Given the description of an element on the screen output the (x, y) to click on. 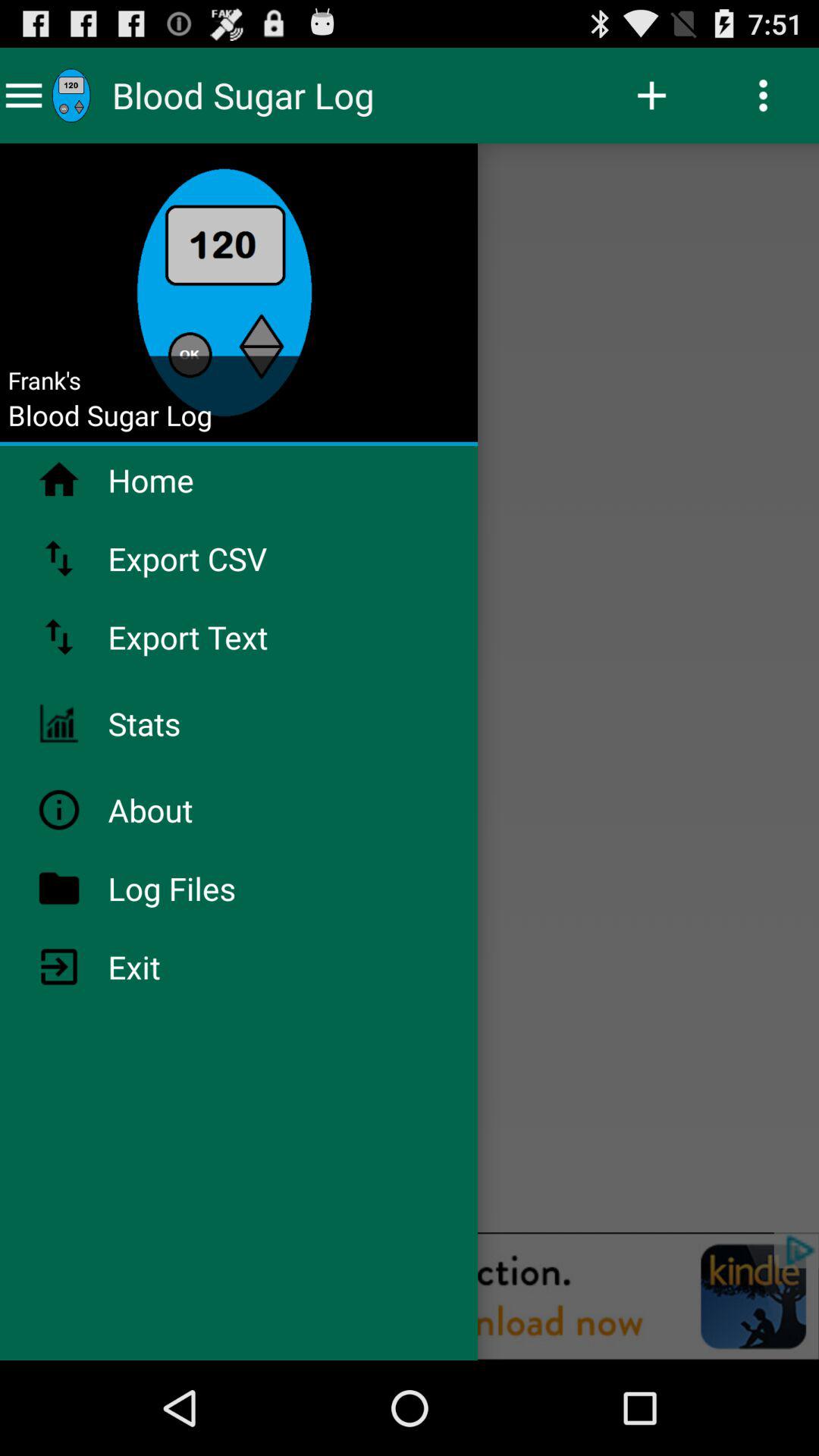
jump until the export text icon (227, 636)
